Given the description of an element on the screen output the (x, y) to click on. 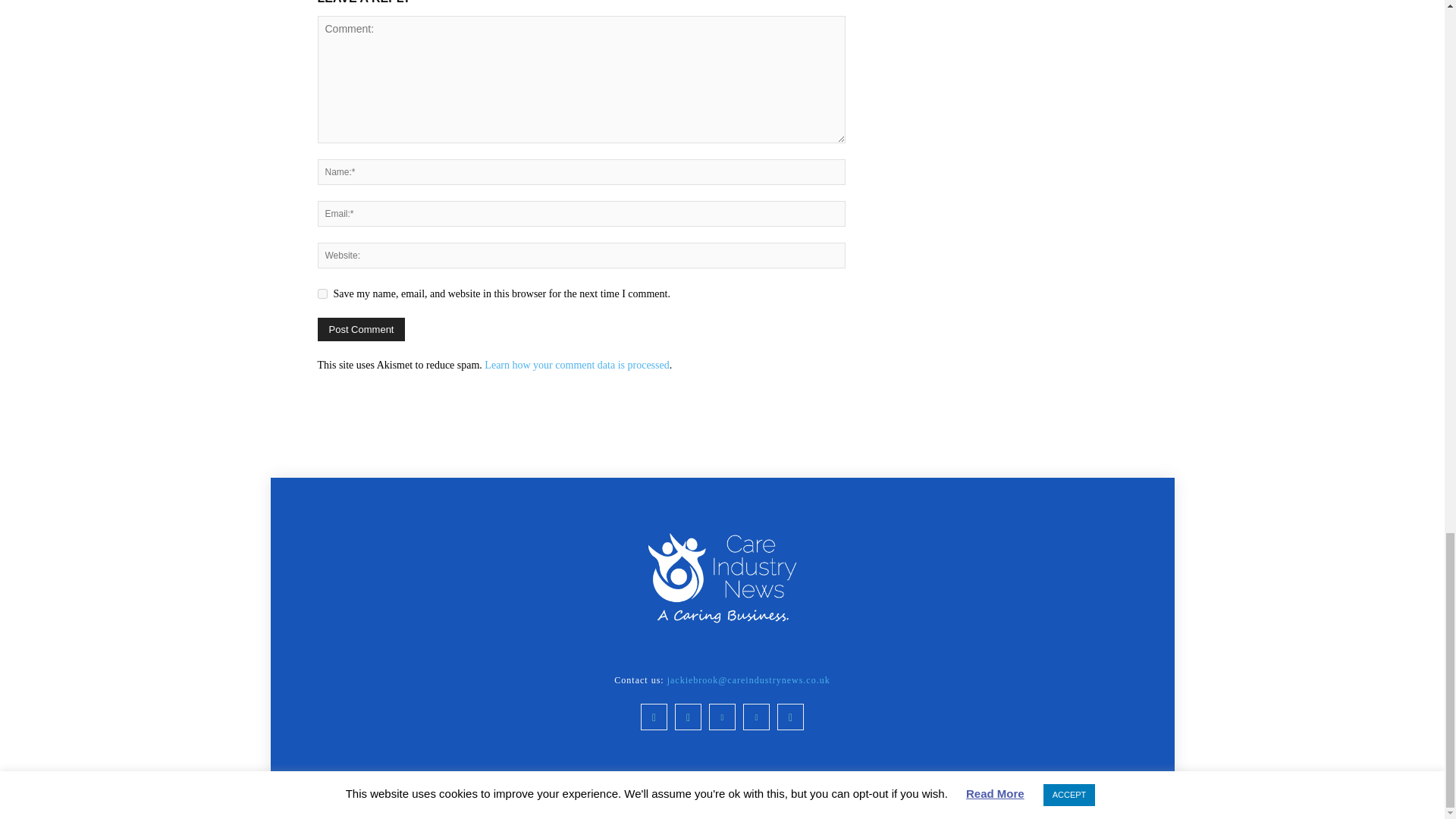
Post Comment (360, 329)
yes (321, 293)
